Given the description of an element on the screen output the (x, y) to click on. 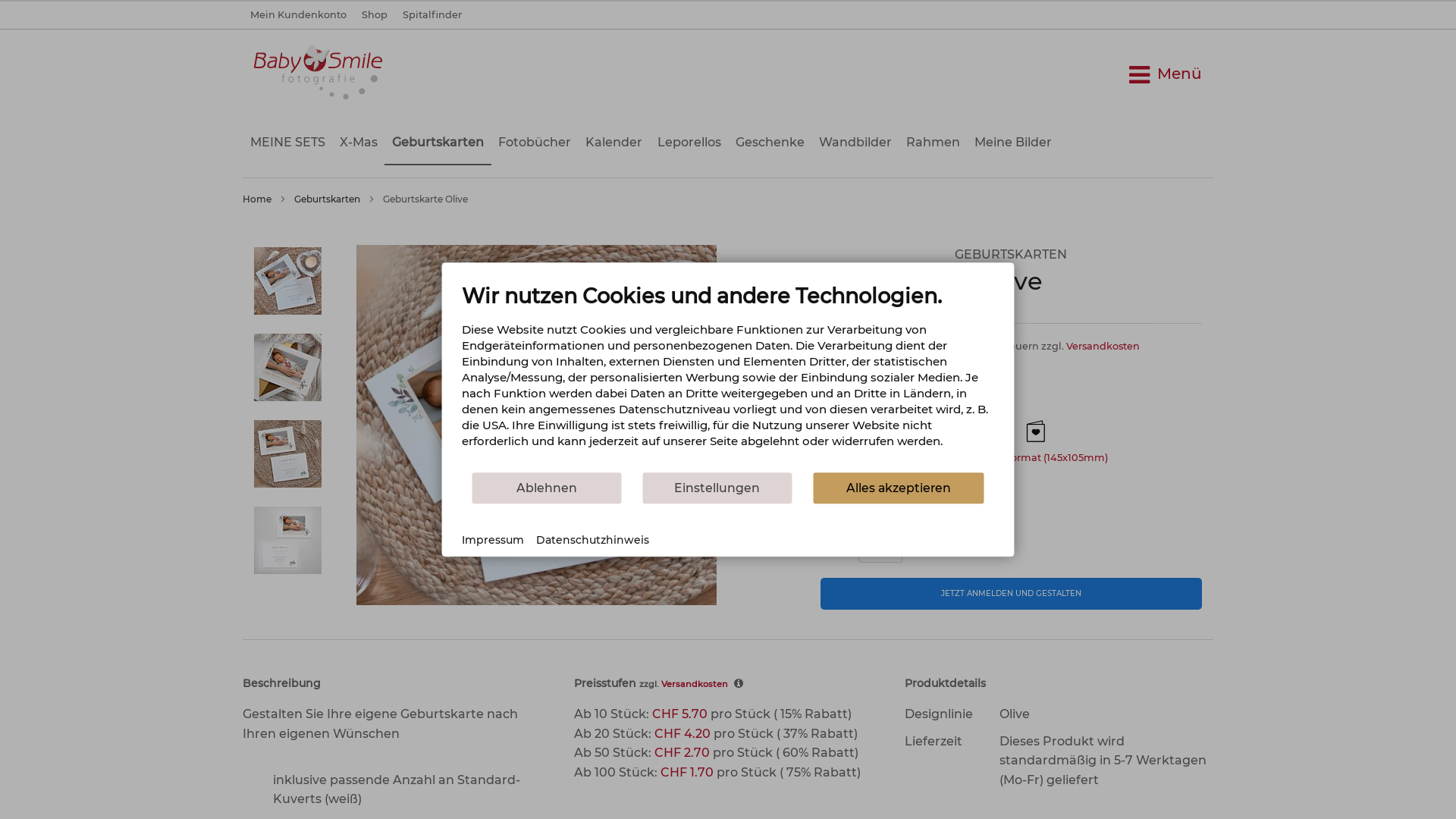
Impressum Element type: text (492, 540)
Geburtskarten Element type: text (437, 143)
Einstellungen Element type: text (717, 487)
Home Element type: text (256, 198)
JETZT ANMELDEN UND GESTALTEN Element type: text (1010, 593)
MEINE SETS Element type: text (287, 143)
X-Mas Element type: text (358, 143)
Rahmen Element type: text (933, 143)
Geburtskarten Element type: text (327, 198)
Versandkosten Element type: text (694, 683)
Versandkosten Element type: text (1102, 345)
Spitalfinder Element type: text (432, 14)
Wandbilder Element type: text (854, 143)
Geschenke Element type: text (769, 143)
Leporellos Element type: text (688, 143)
Datenschutzhinweis Element type: text (591, 540)
Mein Kundenkonto Element type: text (298, 14)
Kalender Element type: text (613, 143)
Meine Bilder Element type: text (1013, 143)
Ablehnen Element type: text (546, 487)
Alles akzeptieren Element type: text (897, 487)
Shop Element type: text (374, 14)
